Given the description of an element on the screen output the (x, y) to click on. 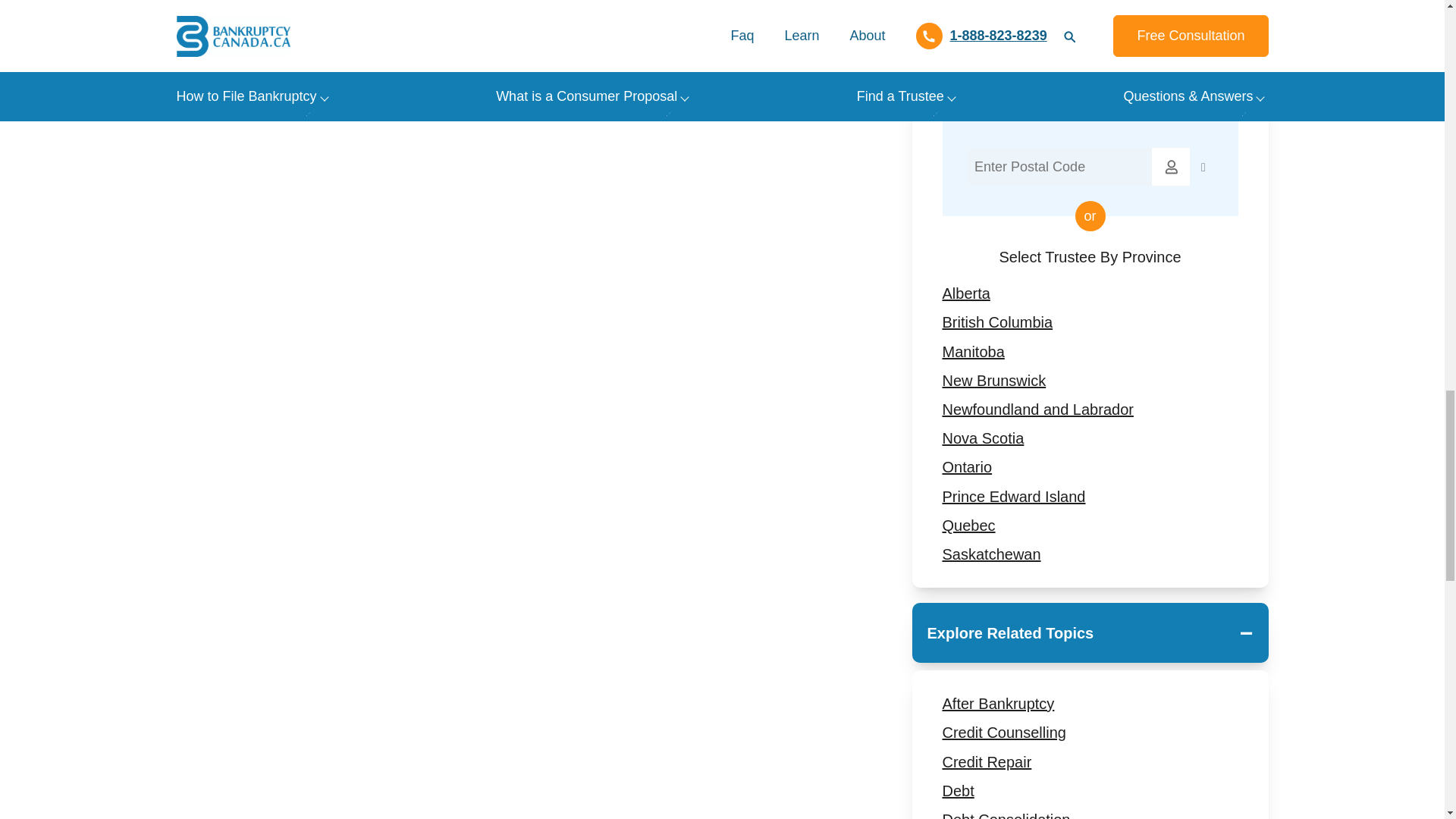
Search (1170, 166)
Use your current location (1202, 166)
